Given the description of an element on the screen output the (x, y) to click on. 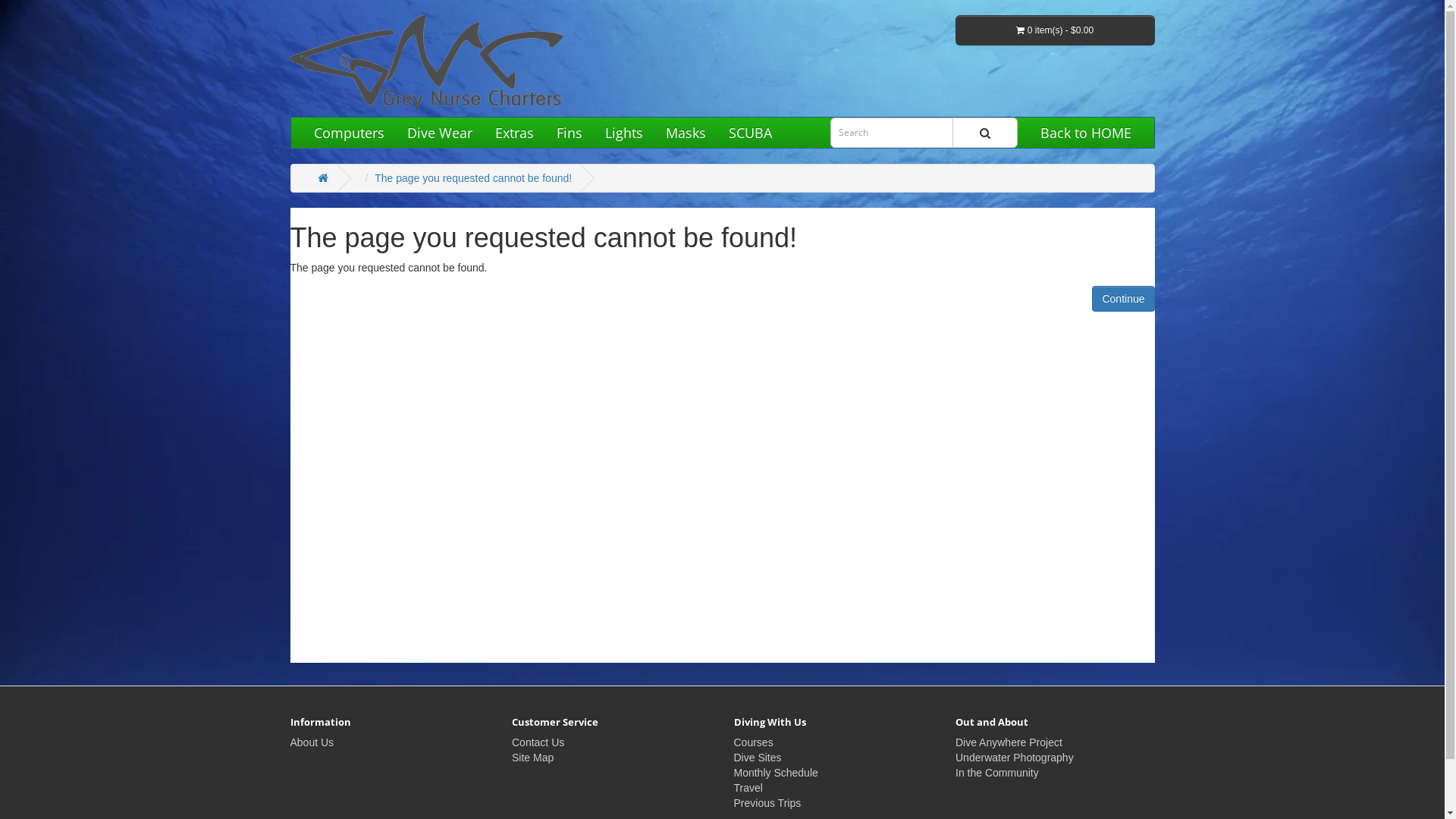
Continue Element type: text (1123, 298)
Computers Element type: text (348, 132)
Dive Wear Element type: text (439, 132)
About Us Element type: text (311, 742)
Extras Element type: text (514, 132)
Monthly Schedule Element type: text (776, 772)
Courses Element type: text (753, 742)
Travel Element type: text (748, 787)
The page you requested cannot be found! Element type: text (472, 178)
0 item(s) - $0.00 Element type: text (1054, 30)
Fins Element type: text (568, 132)
Masks Element type: text (684, 132)
Dive Anywhere Project Element type: text (1008, 742)
Dive Sites Element type: text (757, 757)
Underwater Photography Element type: text (1014, 757)
Site Map Element type: text (532, 757)
Contact Us Element type: text (537, 742)
In the Community Element type: text (996, 772)
SCUBA Element type: text (750, 132)
Previous Trips Element type: text (767, 803)
Back to HOME Element type: text (1085, 132)
Lights Element type: text (623, 132)
